Given the description of an element on the screen output the (x, y) to click on. 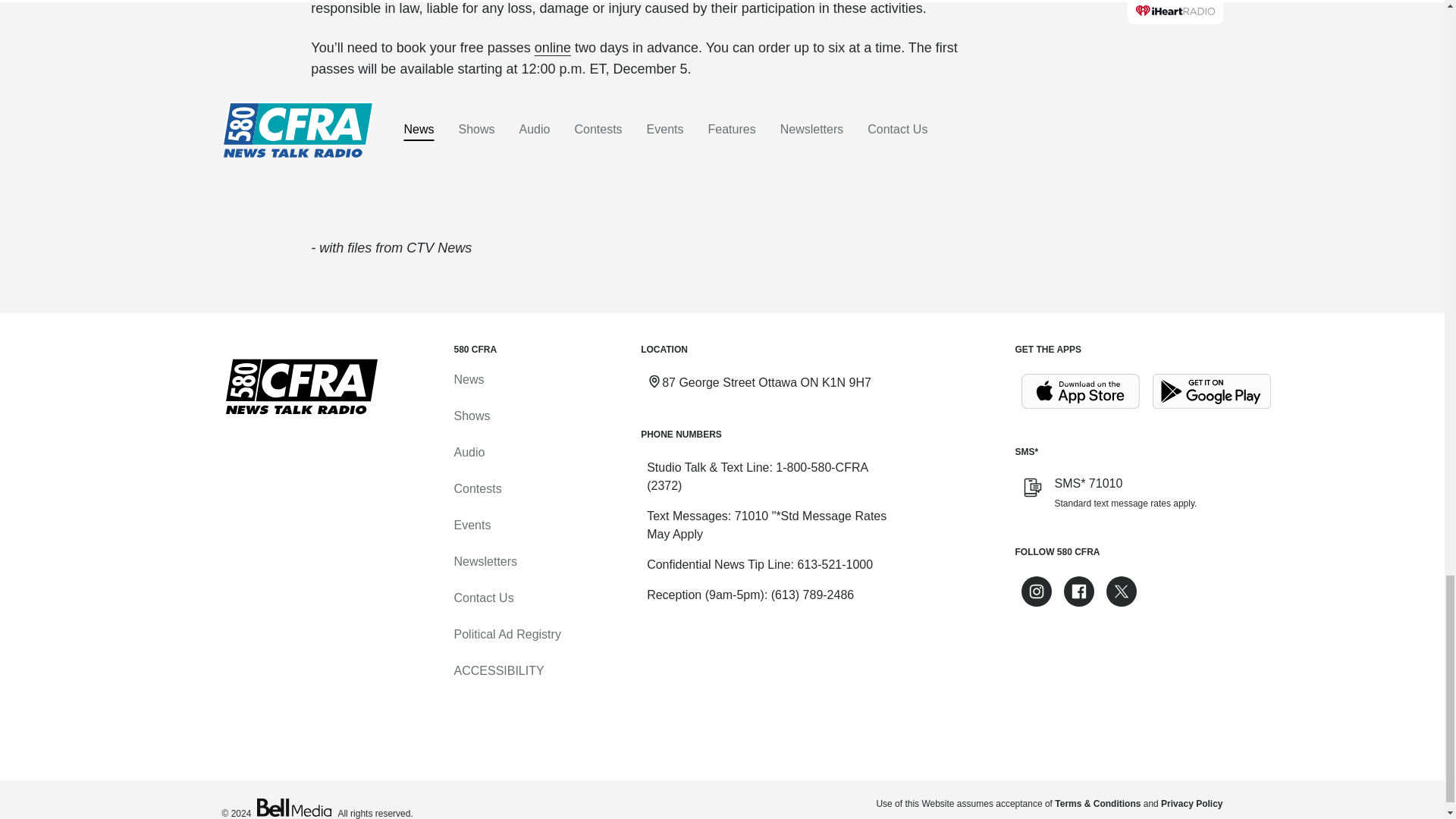
online (552, 47)
Shows (470, 415)
Events (471, 524)
613-521-1000 (834, 563)
News (467, 379)
Contact Us (482, 597)
Audio (468, 451)
Newsletters (484, 561)
Get it on Google Play (1212, 391)
ACCESSIBILITY (497, 671)
Contests (476, 488)
Privacy Policy (1191, 803)
Accessibility (497, 671)
Download on the App Store (1080, 391)
Political Ad Registry (506, 634)
